Given the description of an element on the screen output the (x, y) to click on. 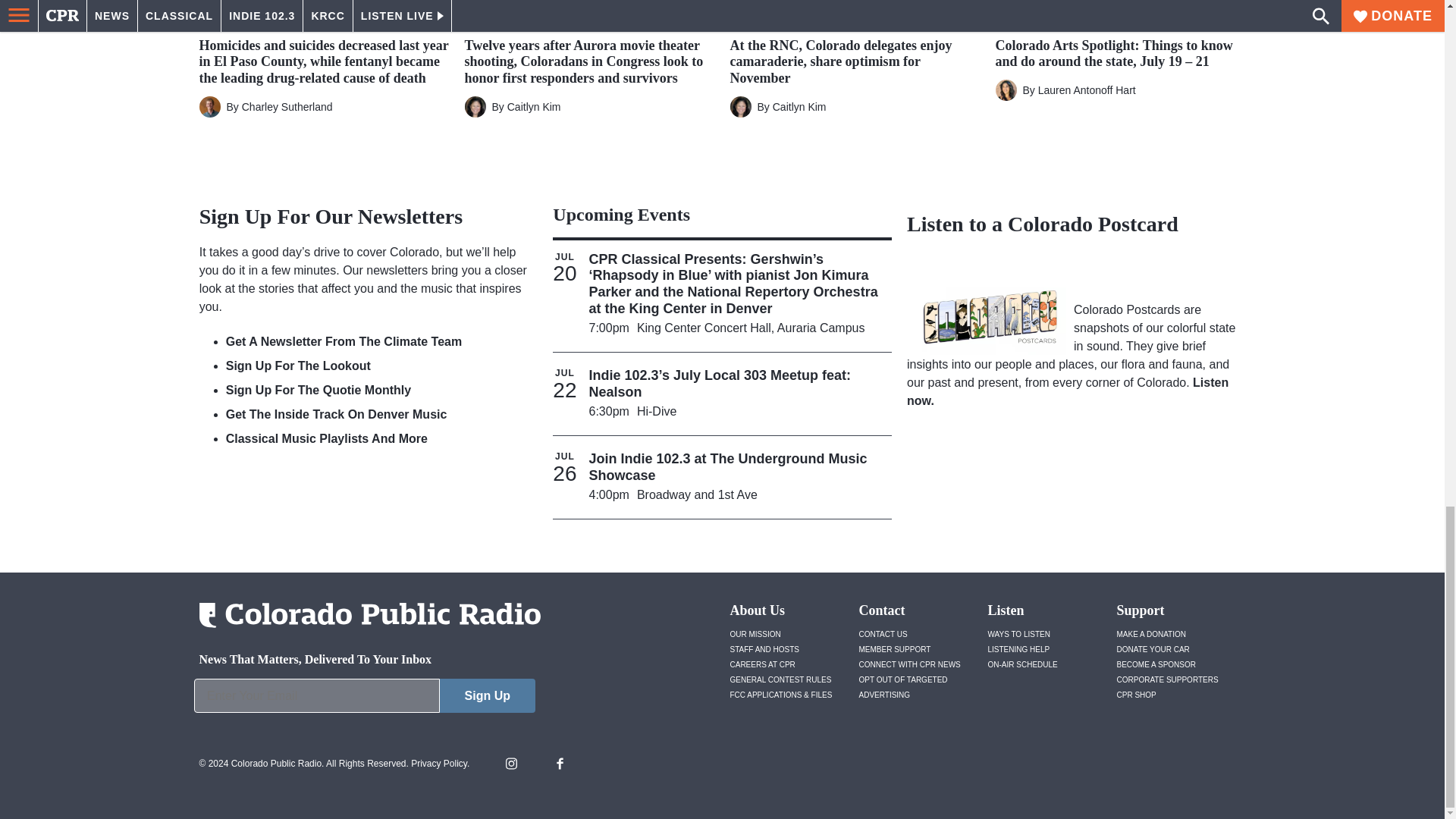
footer (364, 699)
